Given the description of an element on the screen output the (x, y) to click on. 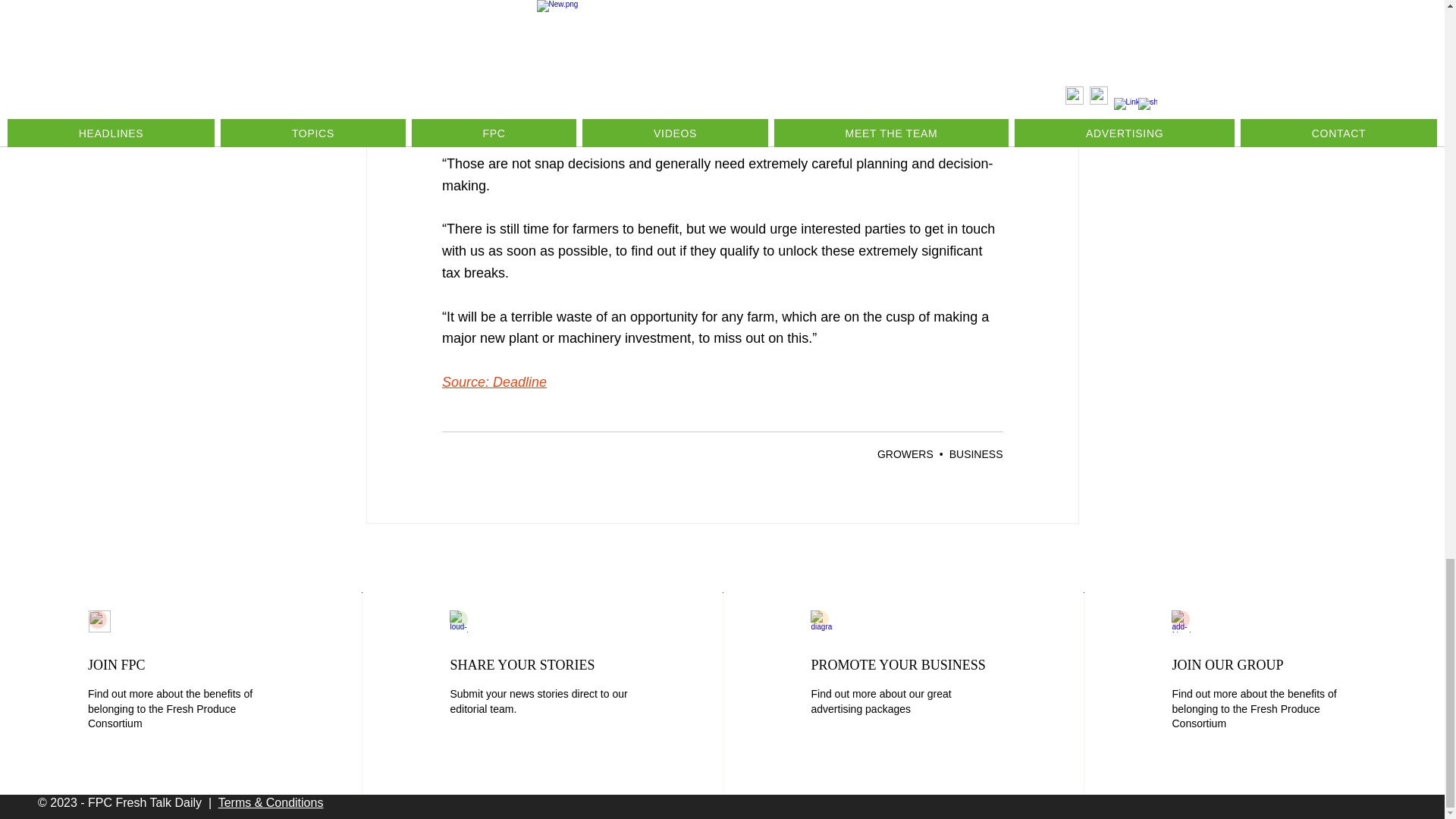
Submit your news stories direct to our editorial team. (538, 700)
partnership.png (460, 621)
partnership.png (99, 621)
partnership.png (1182, 621)
JOIN FPC (116, 664)
partnership.png (821, 621)
Source: Deadline (493, 381)
SHARE YOUR STORIES (521, 664)
BUSINESS (976, 453)
